Given the description of an element on the screen output the (x, y) to click on. 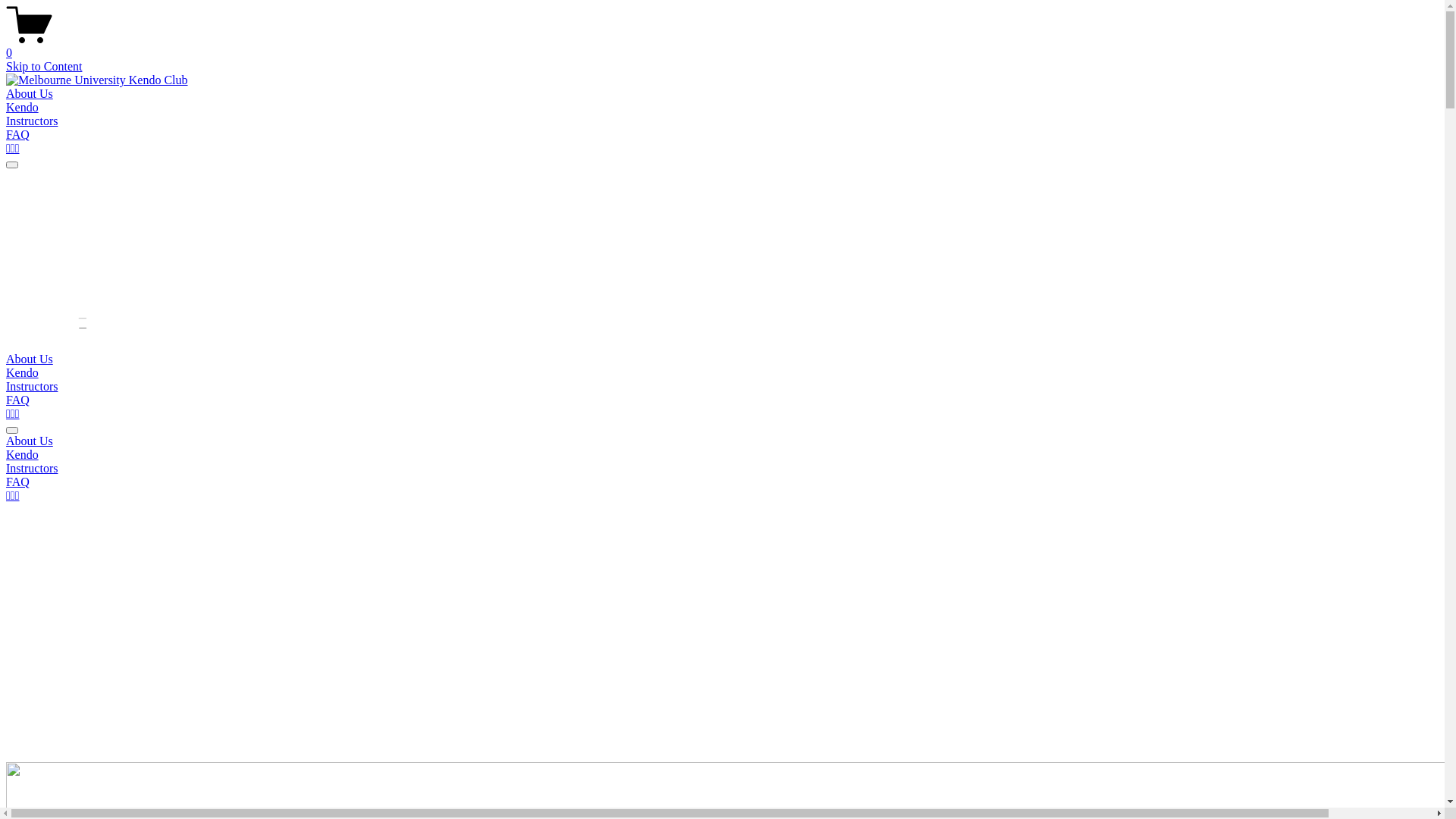
0 Element type: text (722, 45)
Kendo Element type: text (22, 106)
FAQ Element type: text (17, 134)
About Us Element type: text (29, 93)
Instructors Element type: text (31, 385)
FAQ Element type: text (17, 399)
Skip to Content Element type: text (43, 65)
About Us Element type: text (29, 358)
About Us Element type: text (722, 441)
FAQ Element type: text (722, 482)
Kendo Element type: text (22, 372)
Instructors Element type: text (722, 468)
Kendo Element type: text (722, 454)
Instructors Element type: text (31, 120)
